Given the description of an element on the screen output the (x, y) to click on. 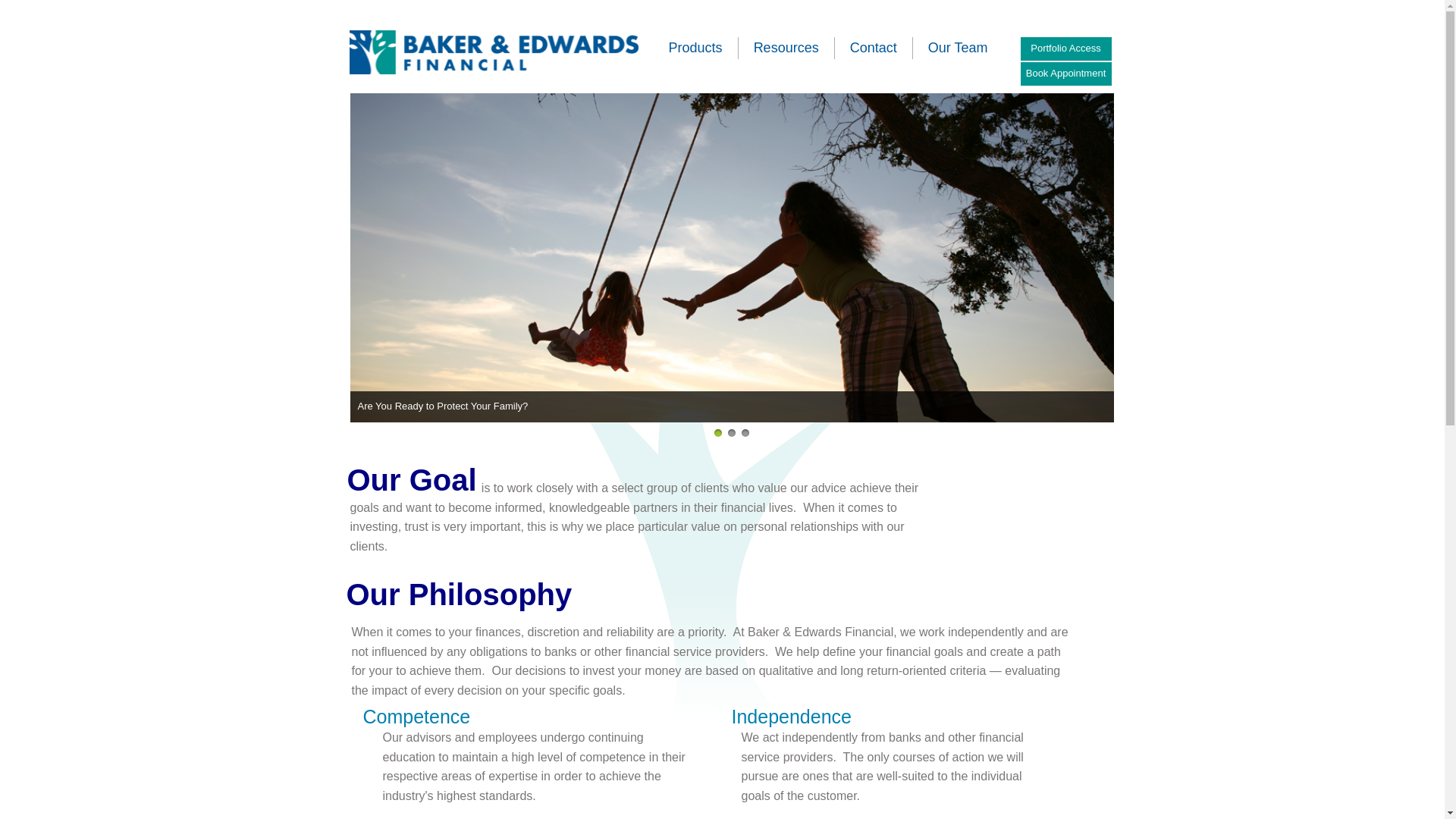
Our Team Element type: text (958, 47)
Portfolio Access Element type: text (1065, 48)
Resources Element type: text (786, 47)
Products Element type: text (695, 47)
Contact Element type: text (873, 47)
Book Appointment Element type: text (1065, 73)
